Given the description of an element on the screen output the (x, y) to click on. 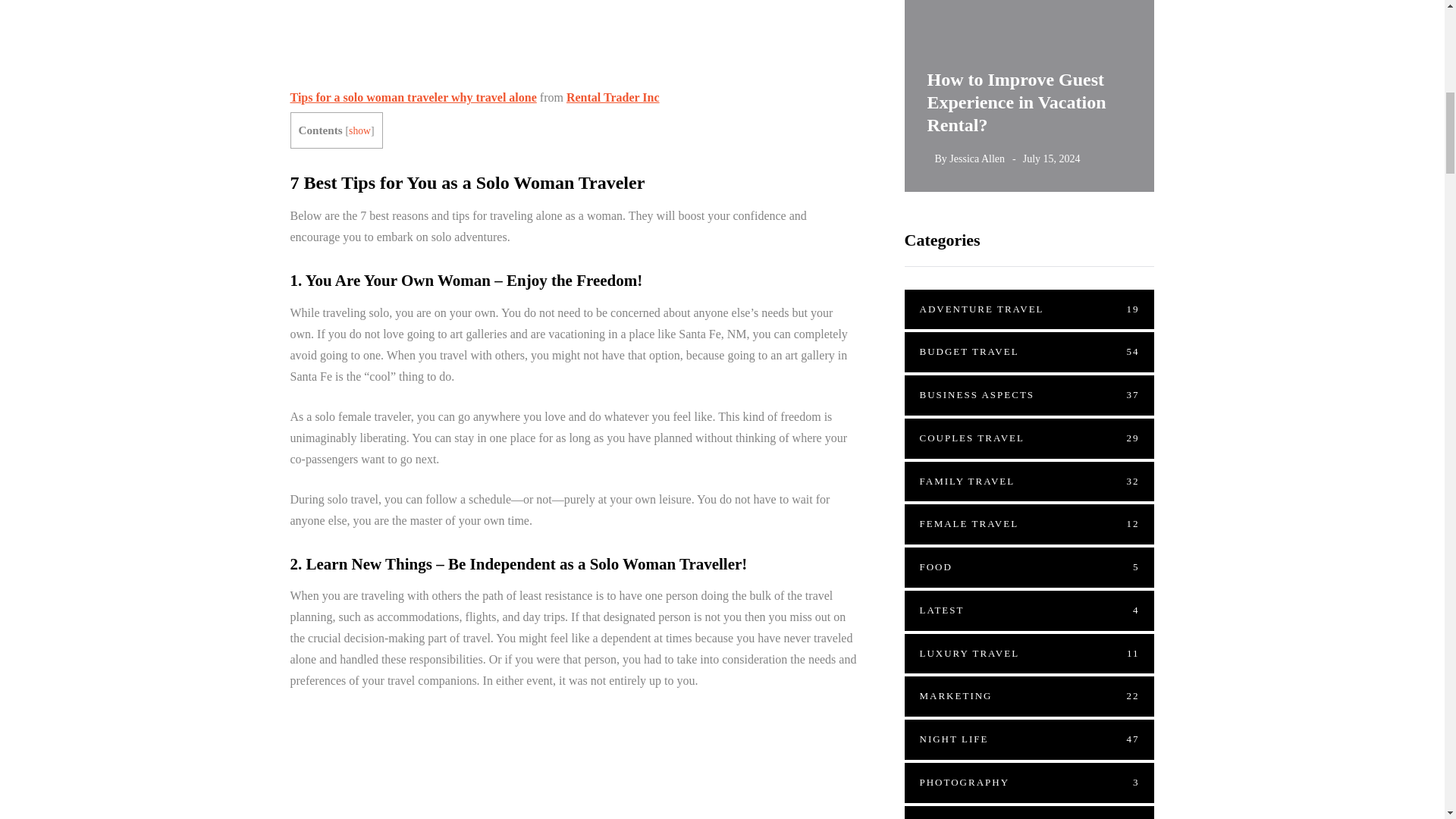
Tips for a solo woman traveler why travel alone (412, 97)
show (360, 130)
Rental Trader Inc (612, 97)
Tips for a solo woman traveler why travel alone (412, 97)
